Given the description of an element on the screen output the (x, y) to click on. 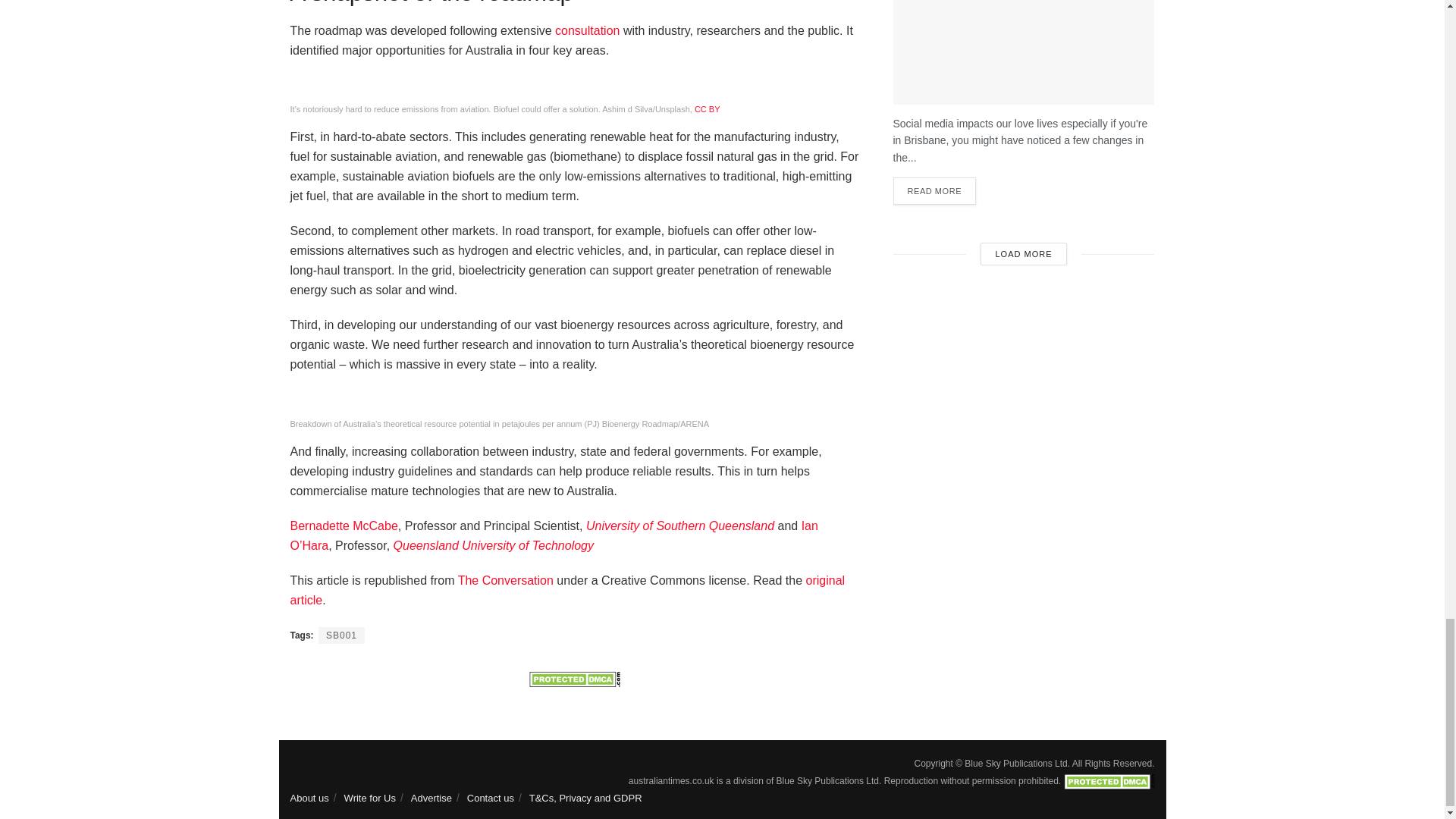
DMCA.com Protection Status (1108, 780)
DMCA.com Protection Status (574, 678)
